Given the description of an element on the screen output the (x, y) to click on. 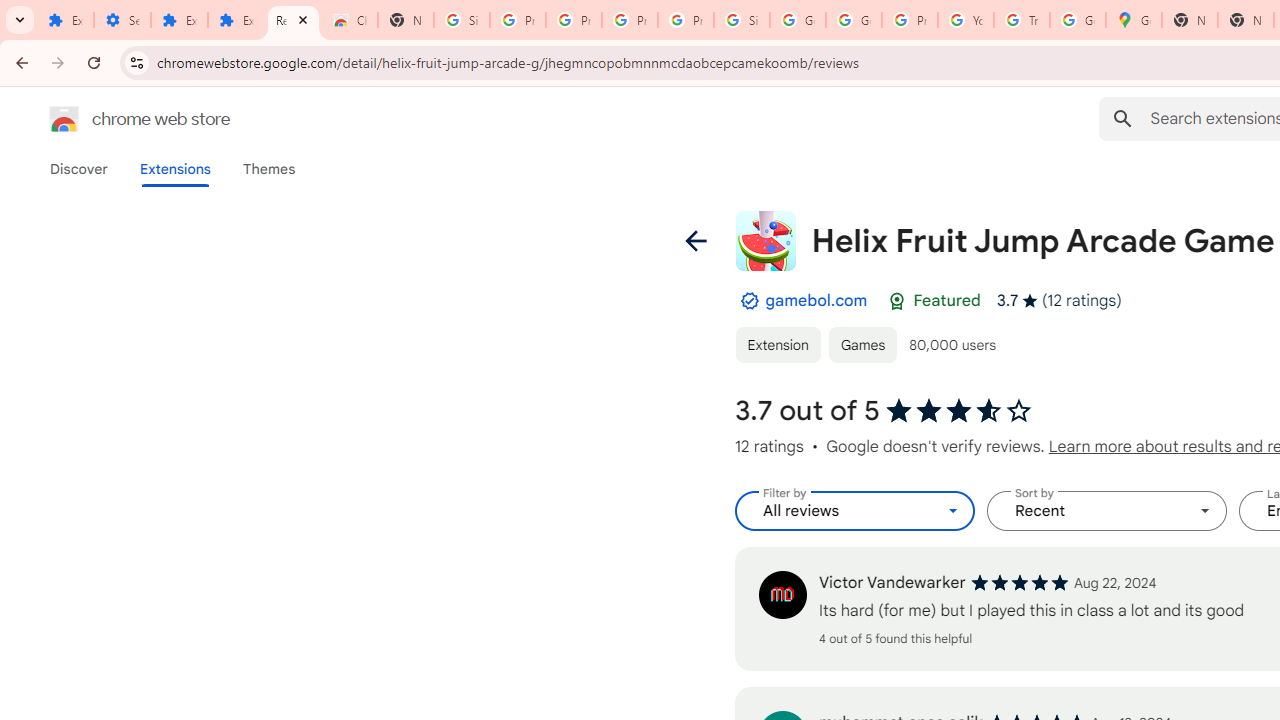
Extensions (65, 20)
